Given the description of an element on the screen output the (x, y) to click on. 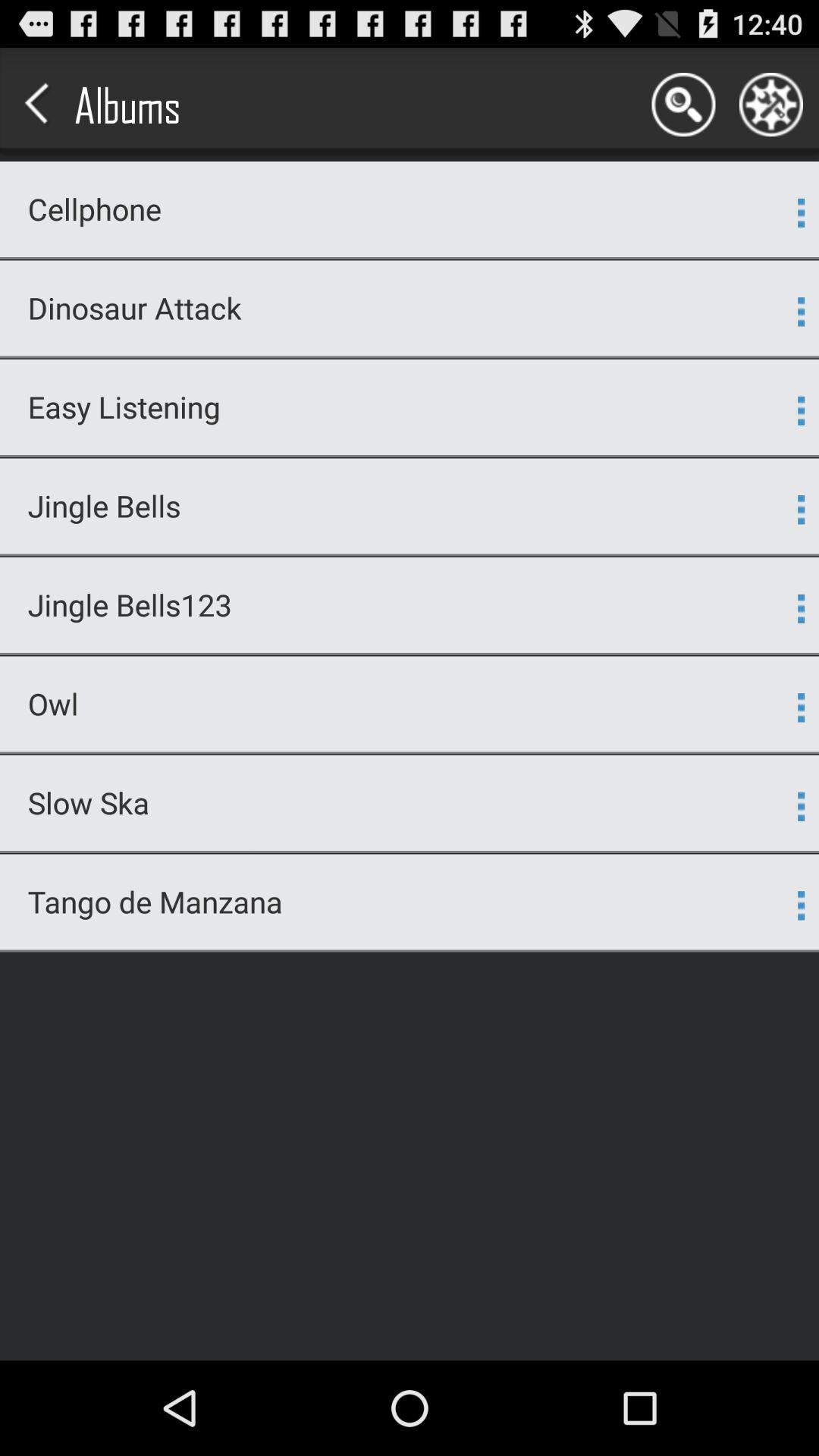
press app next to the jingle bells item (800, 509)
